Given the description of an element on the screen output the (x, y) to click on. 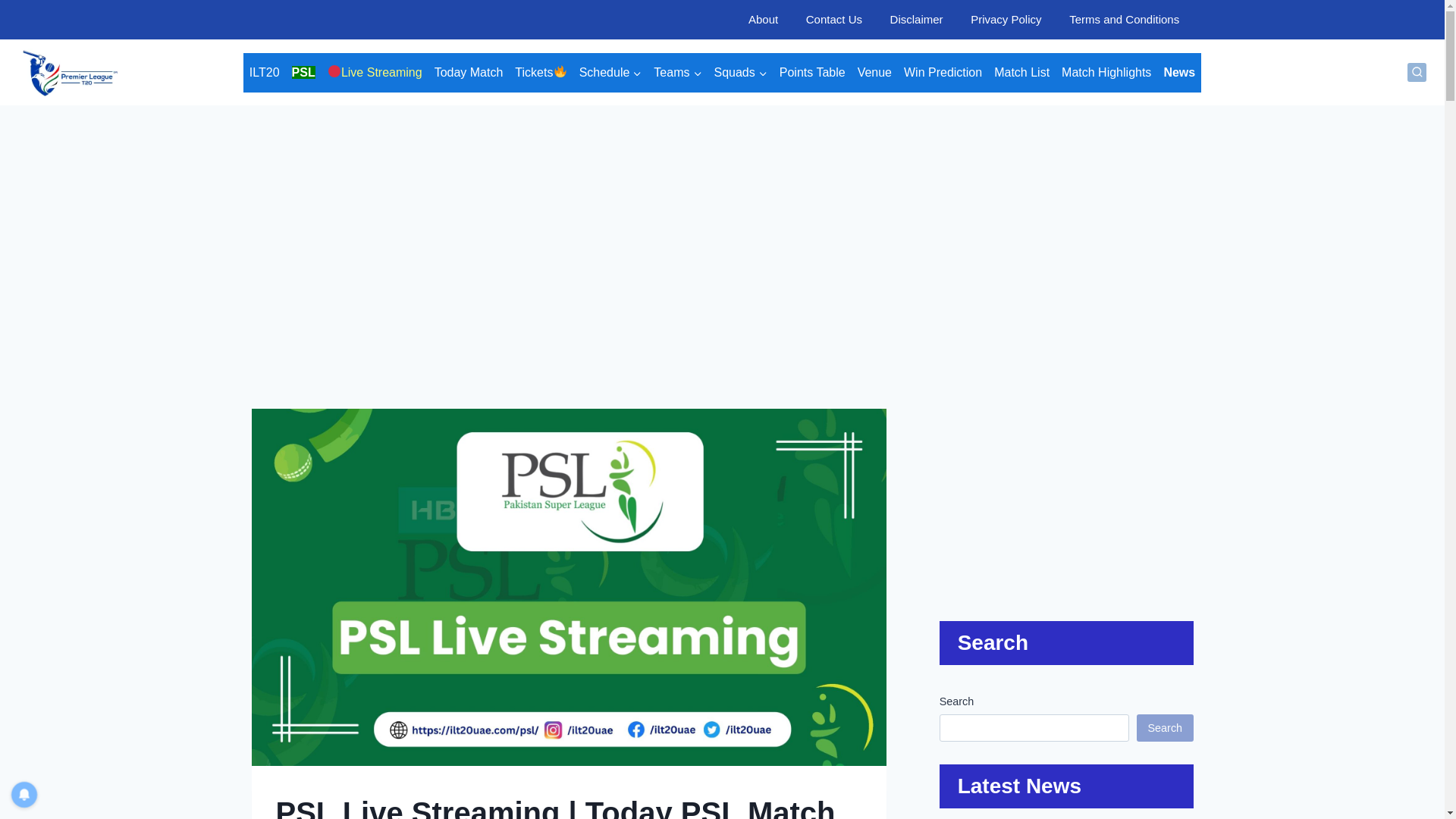
Match List (1021, 72)
Squads (740, 72)
Points Table (812, 72)
Contact Us (834, 19)
Win Prediction (943, 72)
About (763, 19)
Venue (874, 72)
PSL (303, 72)
Schedule (610, 72)
Tickets (540, 72)
Live Streaming (374, 72)
Today Match (468, 72)
Privacy Policy (1005, 19)
ILT20 (264, 72)
